Given the description of an element on the screen output the (x, y) to click on. 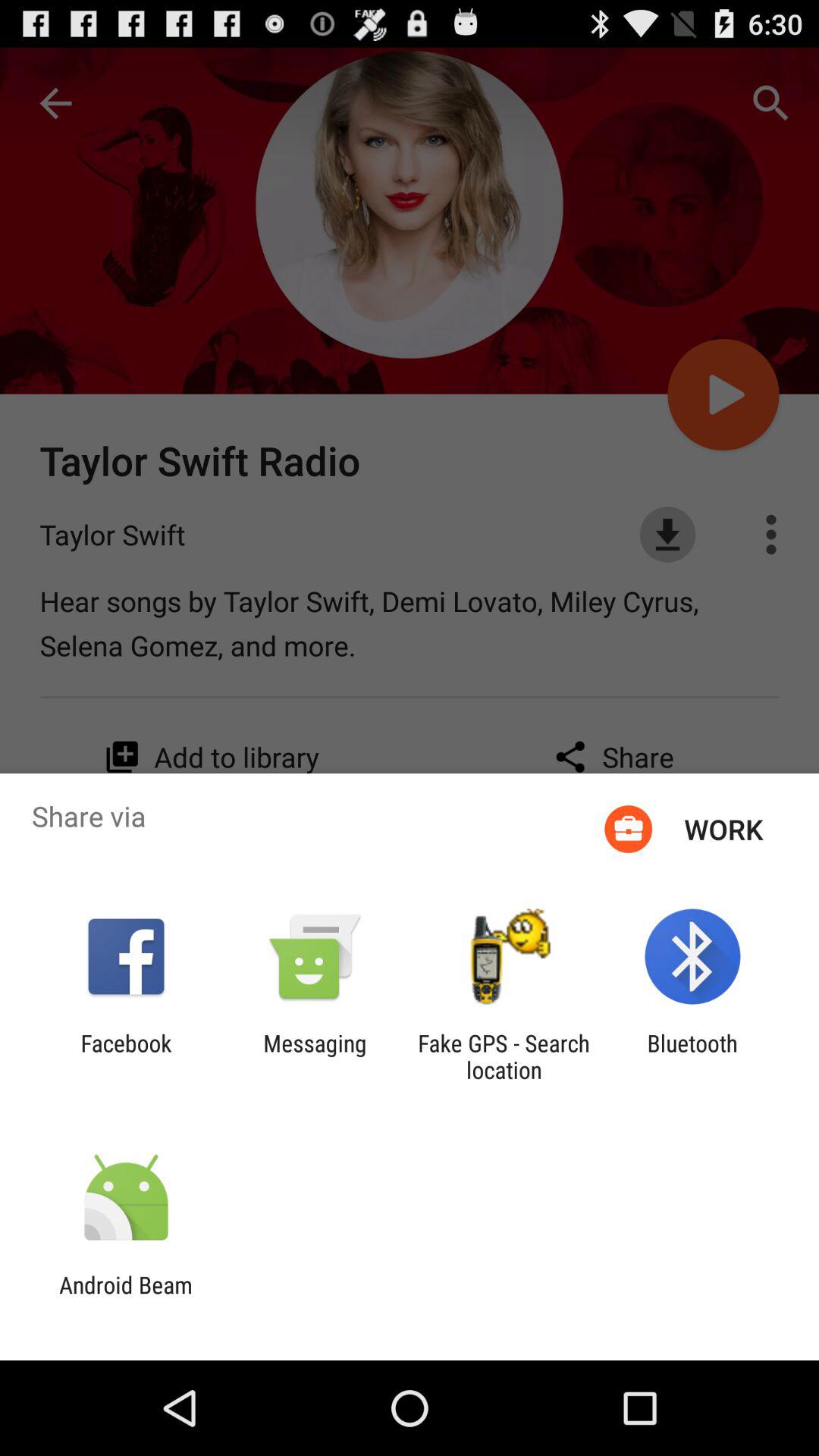
turn off the app to the right of facebook app (314, 1056)
